Given the description of an element on the screen output the (x, y) to click on. 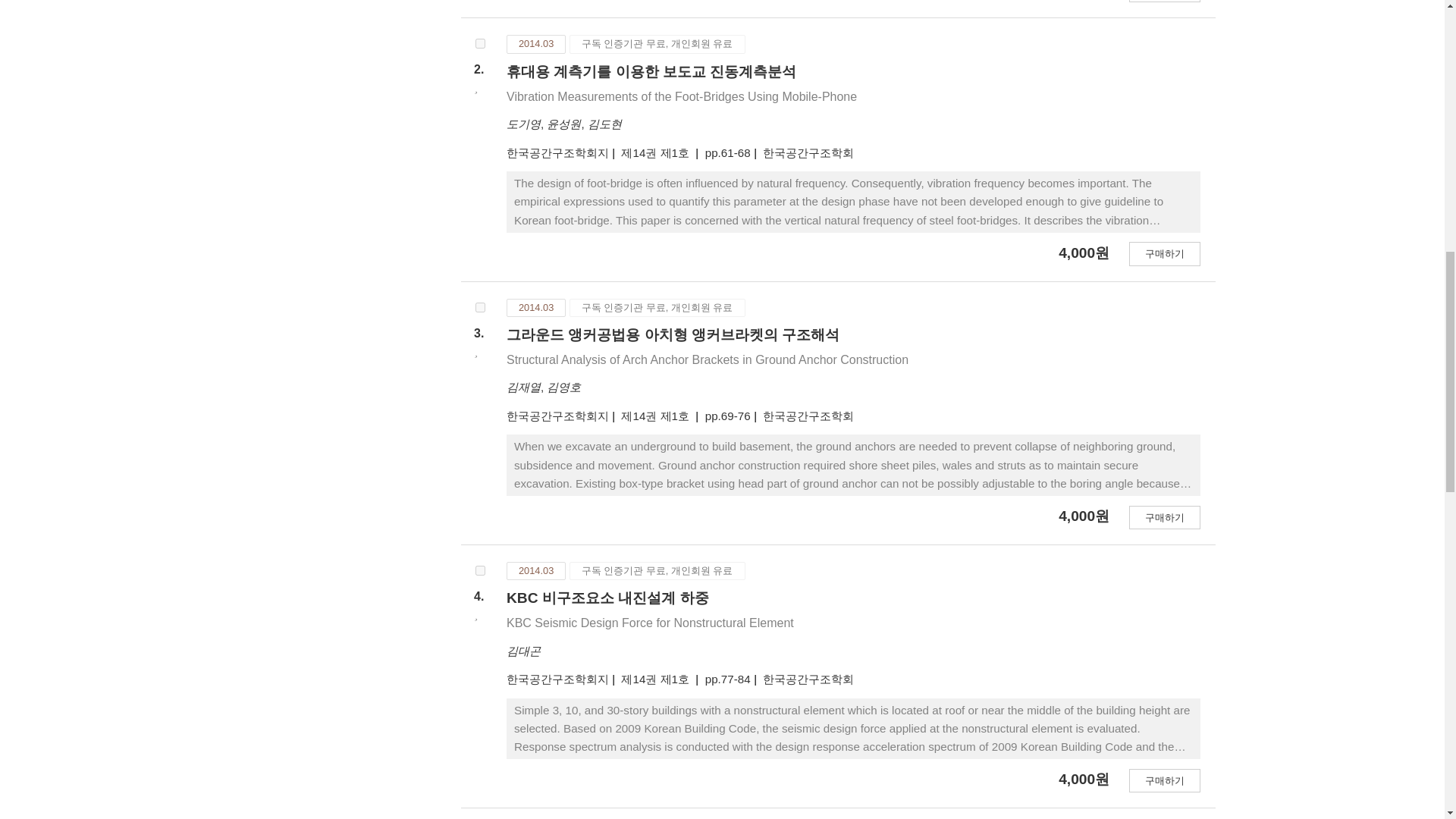
281653 (480, 43)
281655 (480, 570)
281654 (480, 307)
